Given the description of an element on the screen output the (x, y) to click on. 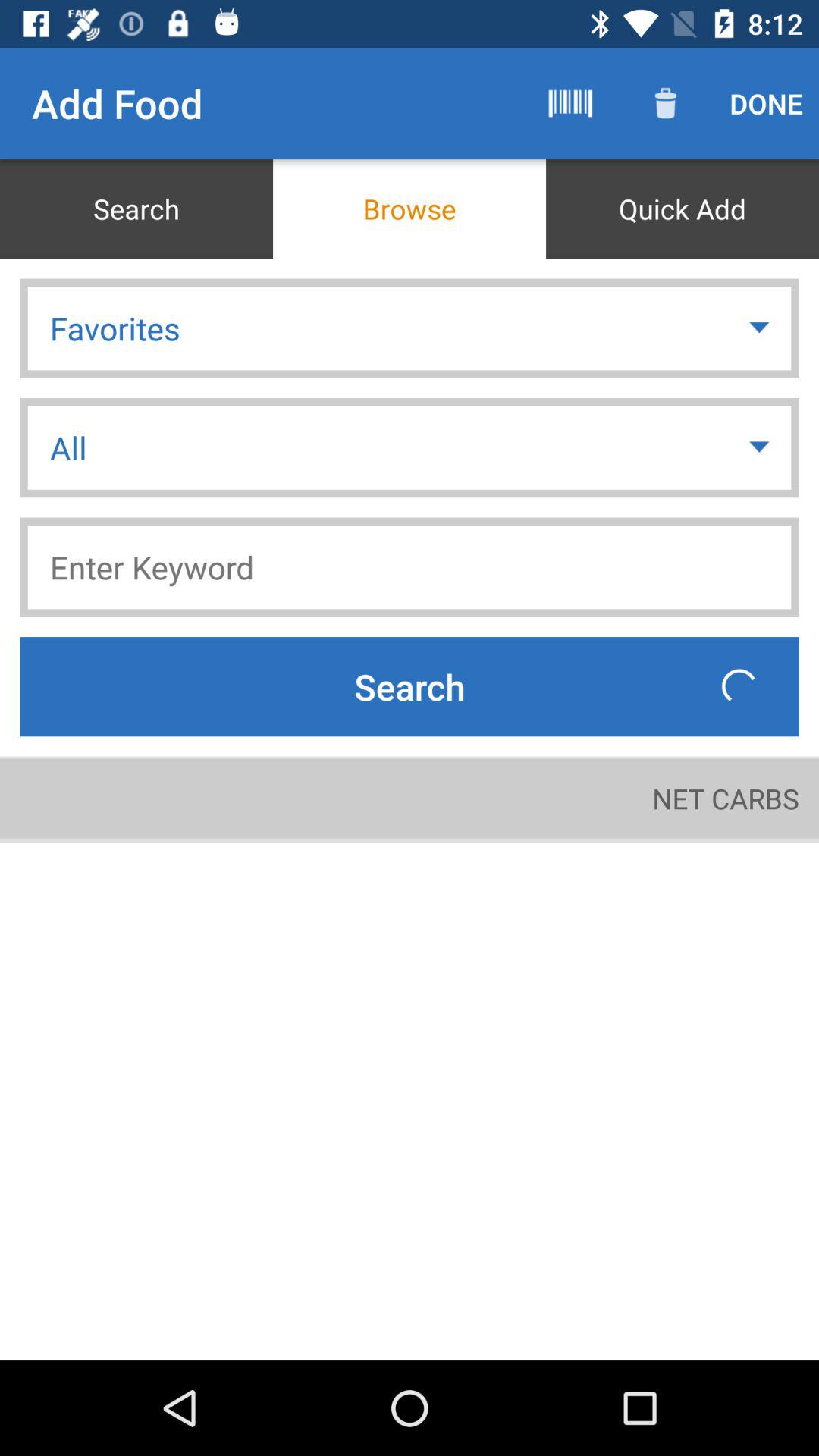
turn off net carbs item (725, 798)
